Given the description of an element on the screen output the (x, y) to click on. 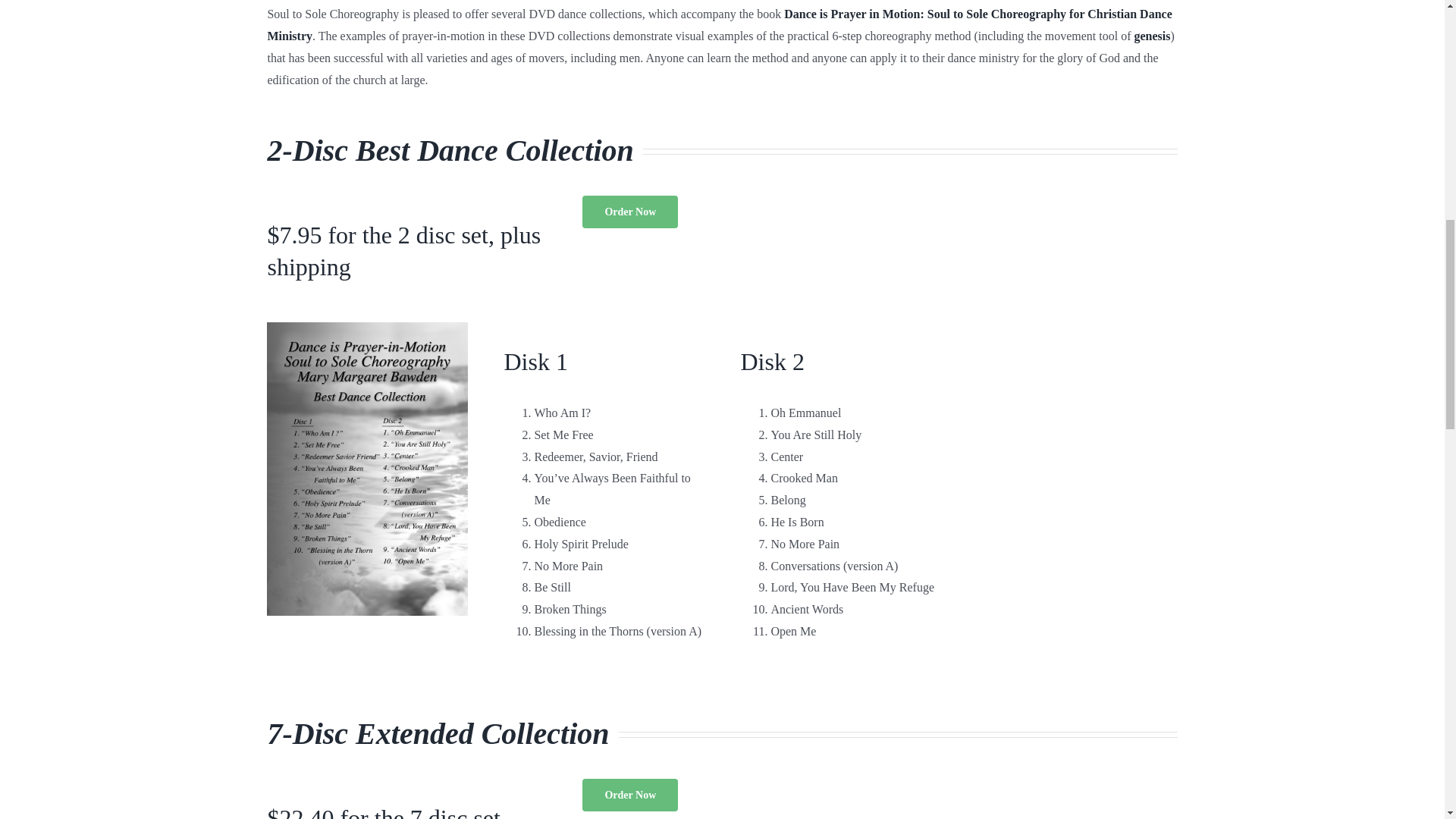
Order Now (630, 211)
genesis (1152, 35)
Order Now (630, 794)
